Given the description of an element on the screen output the (x, y) to click on. 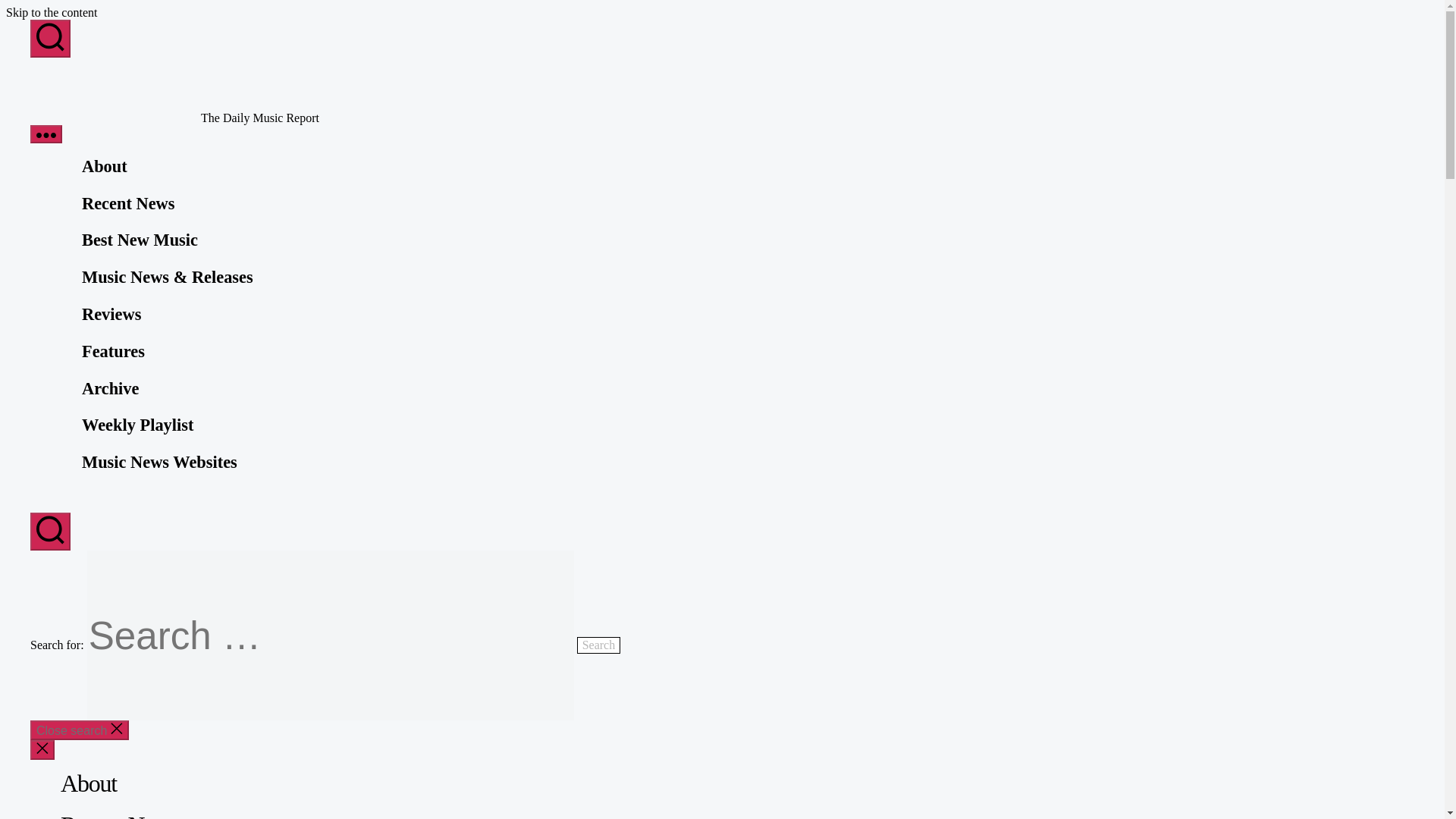
Weekly Playlist (137, 424)
Features (112, 351)
Archive (109, 388)
Search (598, 645)
Search (598, 645)
Best New Music (139, 239)
Recent News (127, 203)
About (104, 166)
Music News Websites (159, 461)
Search (598, 645)
